Given the description of an element on the screen output the (x, y) to click on. 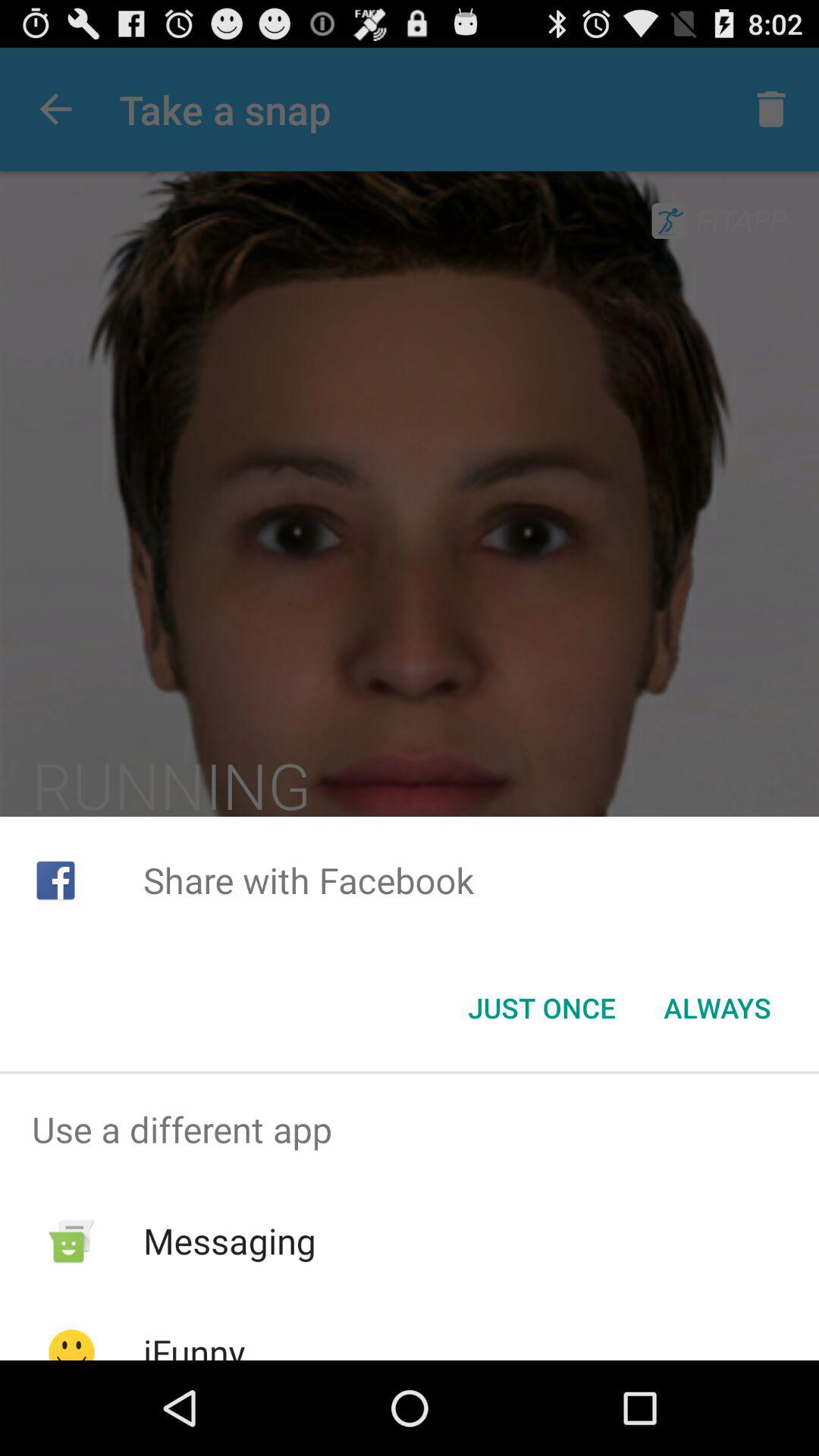
press item above messaging app (409, 1129)
